Given the description of an element on the screen output the (x, y) to click on. 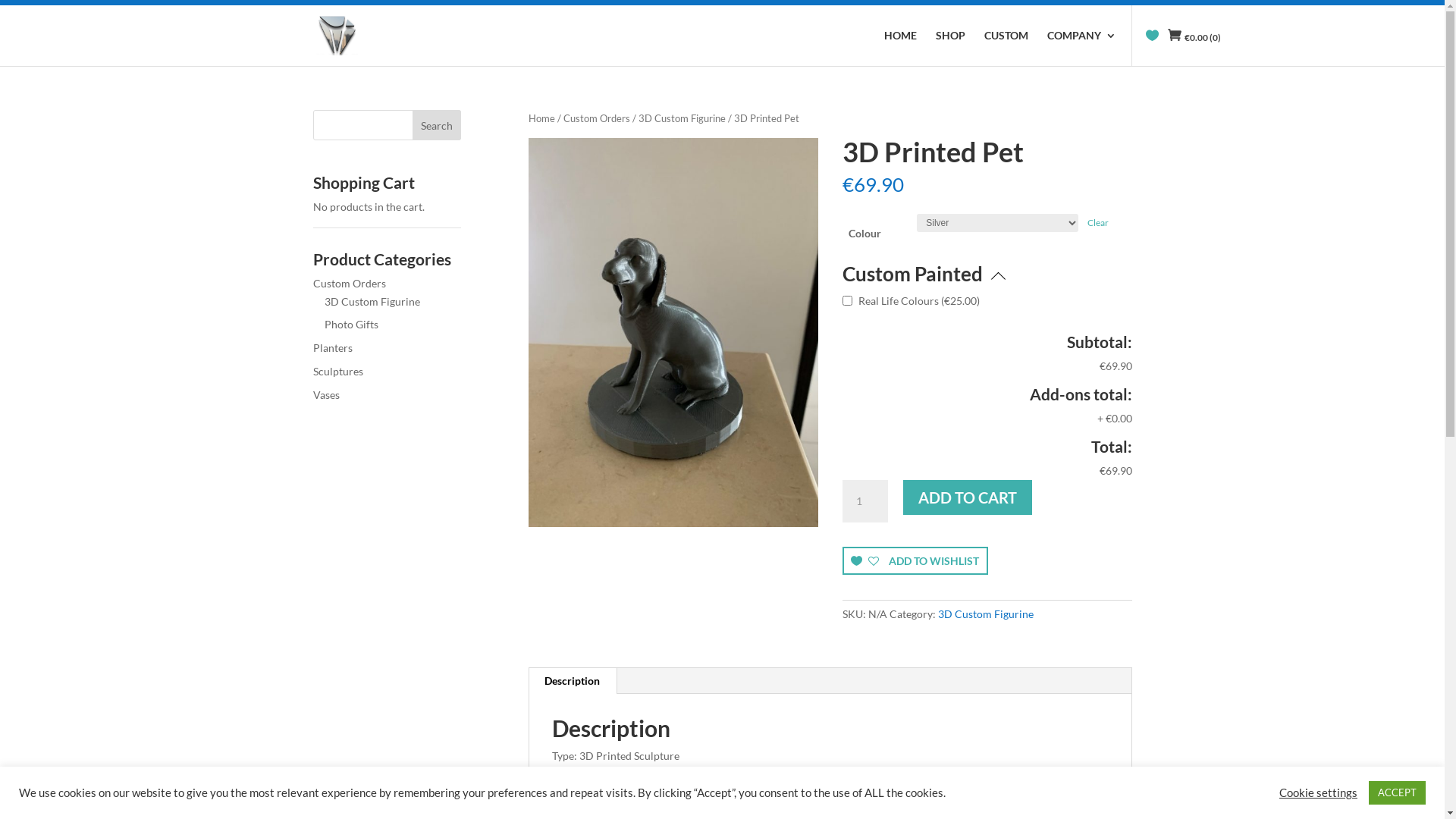
3D Custom Figurine Element type: text (372, 300)
ADD TO CART Element type: text (967, 497)
Vases Element type: text (325, 394)
Planters Element type: text (331, 347)
ACCEPT Element type: text (1396, 792)
Search Element type: text (436, 124)
Description Element type: text (571, 680)
3D Custom Figurine Element type: text (681, 118)
Custom Orders Element type: text (348, 282)
COMPANY Element type: text (1080, 47)
3d printed pet dog Element type: hover (673, 332)
HOME Element type: text (900, 47)
CUSTOM Element type: text (1006, 47)
Photo Gifts Element type: text (351, 323)
Sculptures Element type: text (337, 370)
Qty Element type: hover (865, 501)
3D Custom Figurine Element type: text (985, 613)
Home Element type: text (541, 118)
Cookie settings Element type: text (1318, 792)
Clear Element type: text (1097, 222)
Custom Orders Element type: text (596, 118)
SHOP Element type: text (950, 47)
ADD TO WISHLIST Element type: text (915, 560)
